Given the description of an element on the screen output the (x, y) to click on. 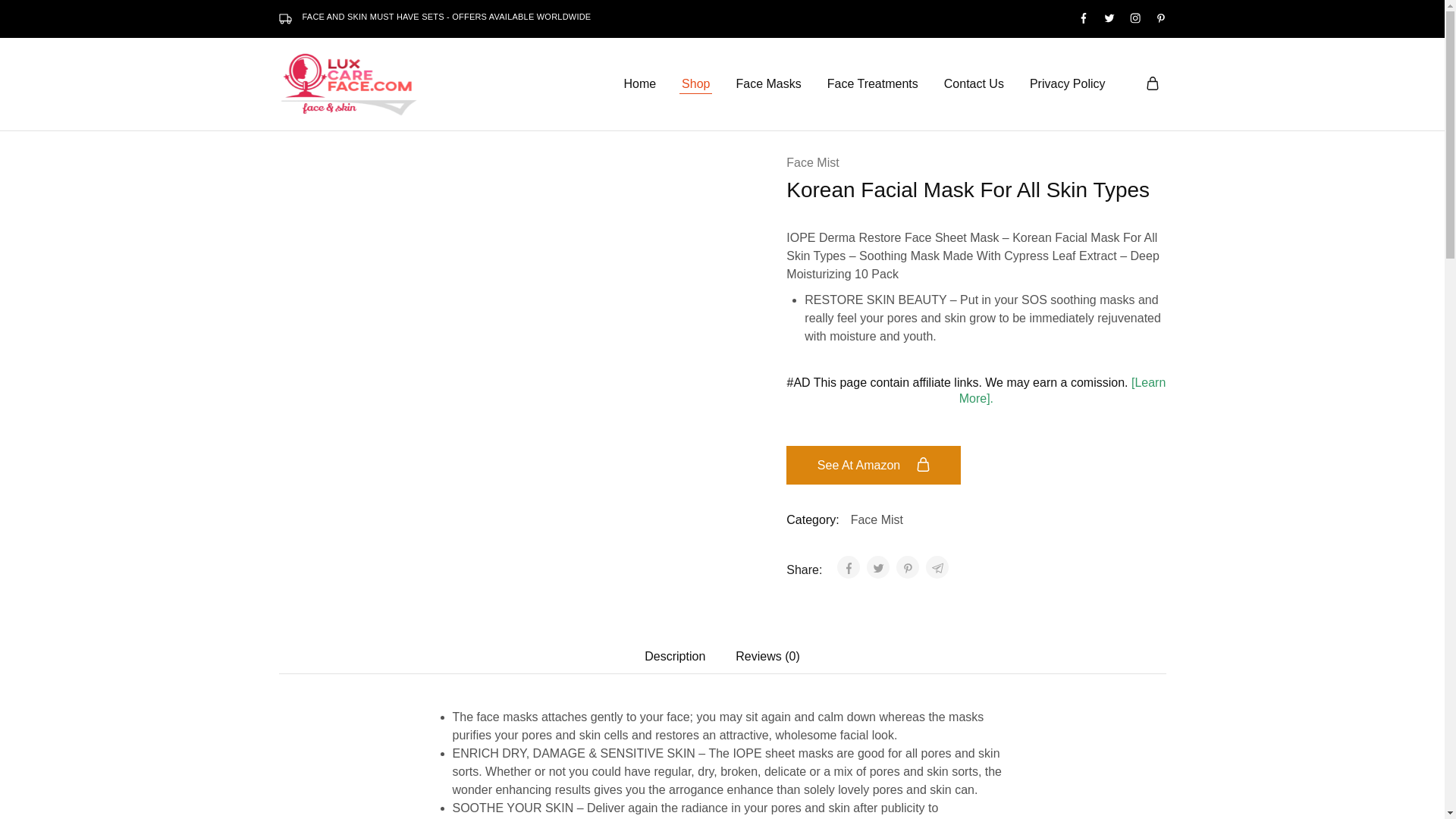
Home (639, 84)
Face Masks (768, 84)
Face Mist (812, 162)
Description (674, 656)
Face Treatments (872, 84)
Face Mist (876, 519)
Shop (695, 84)
See At Amazon (873, 464)
Contact Us (974, 84)
Privacy Policy (1067, 84)
